Given the description of an element on the screen output the (x, y) to click on. 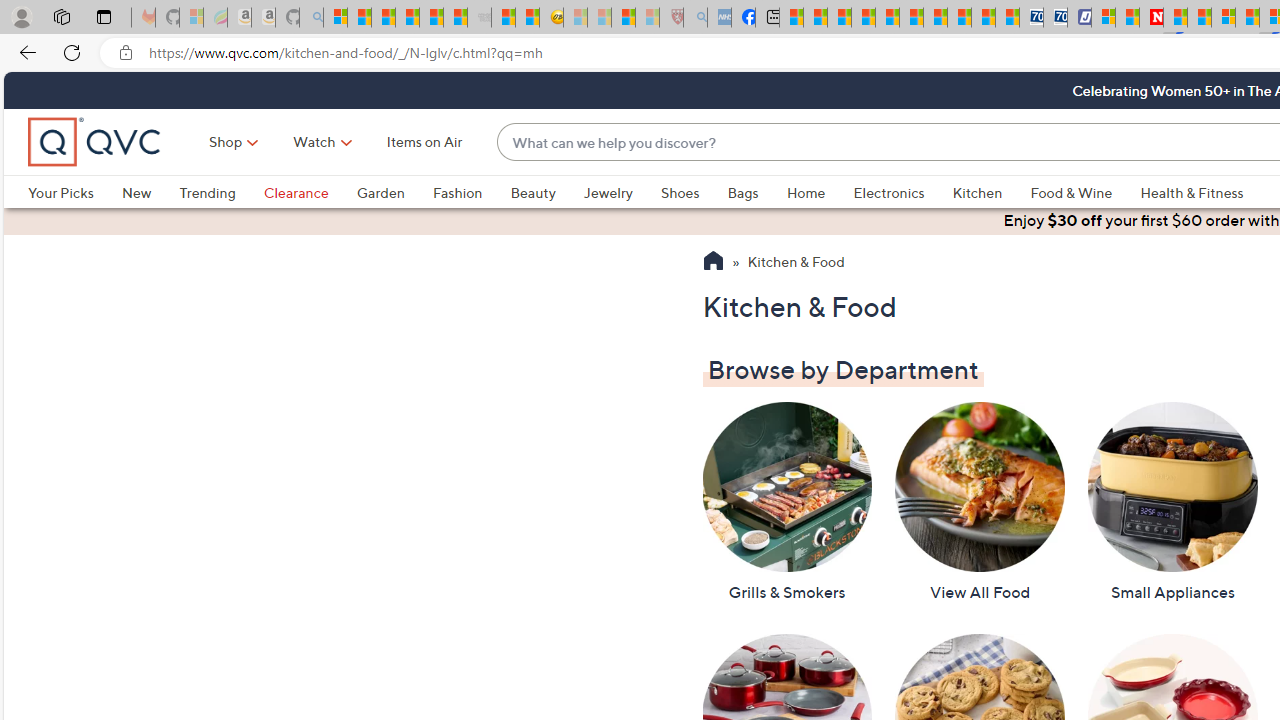
Health & Fitness (1197, 192)
Health & Fitness (1192, 192)
QVC home (95, 141)
Bags (757, 192)
Garden (393, 192)
Trending (221, 192)
Your Picks (74, 192)
